Given the description of an element on the screen output the (x, y) to click on. 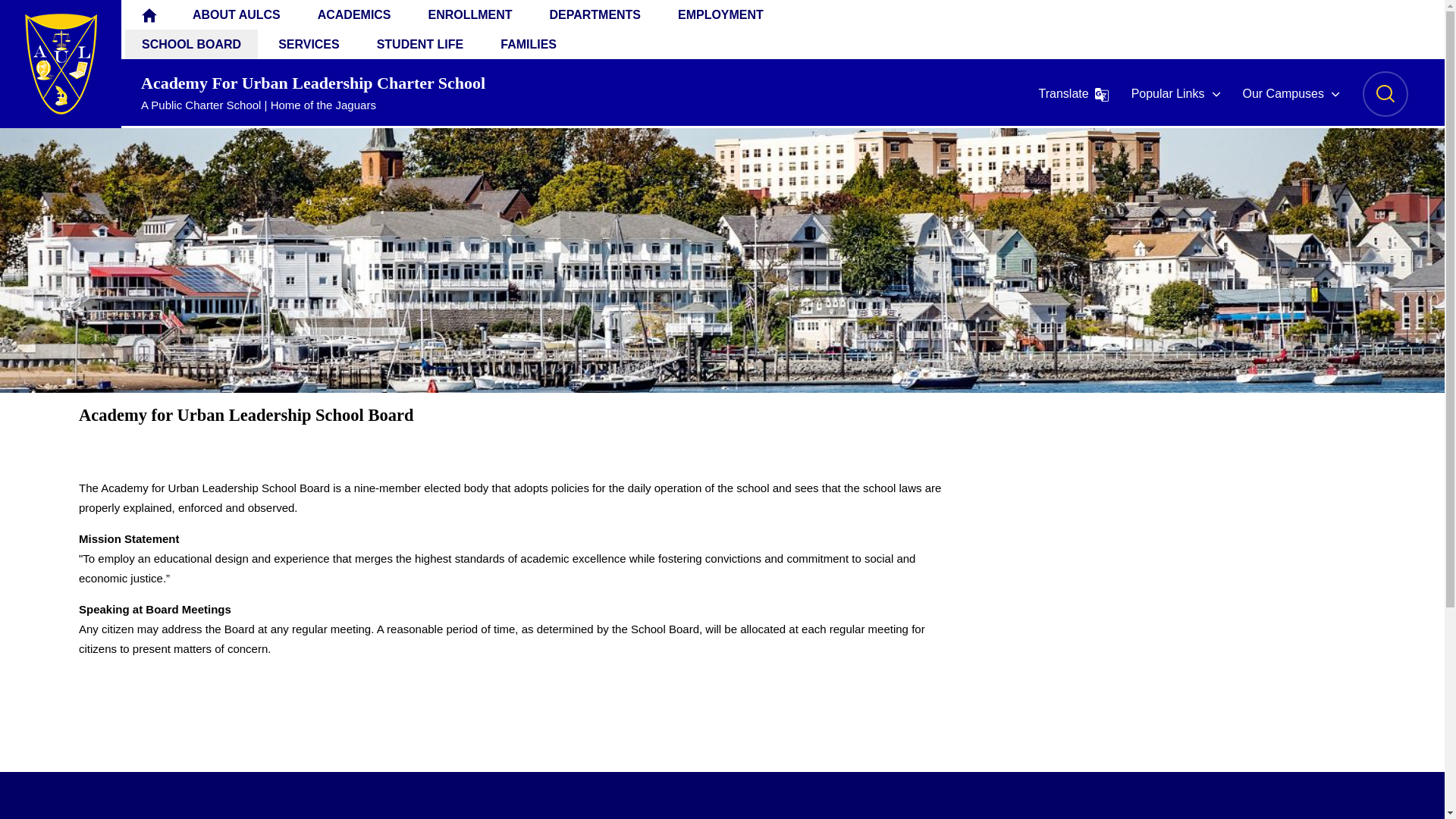
ACADEMICS (354, 14)
ENROLLMENT (470, 14)
ABOUT AULCS (236, 14)
